Given the description of an element on the screen output the (x, y) to click on. 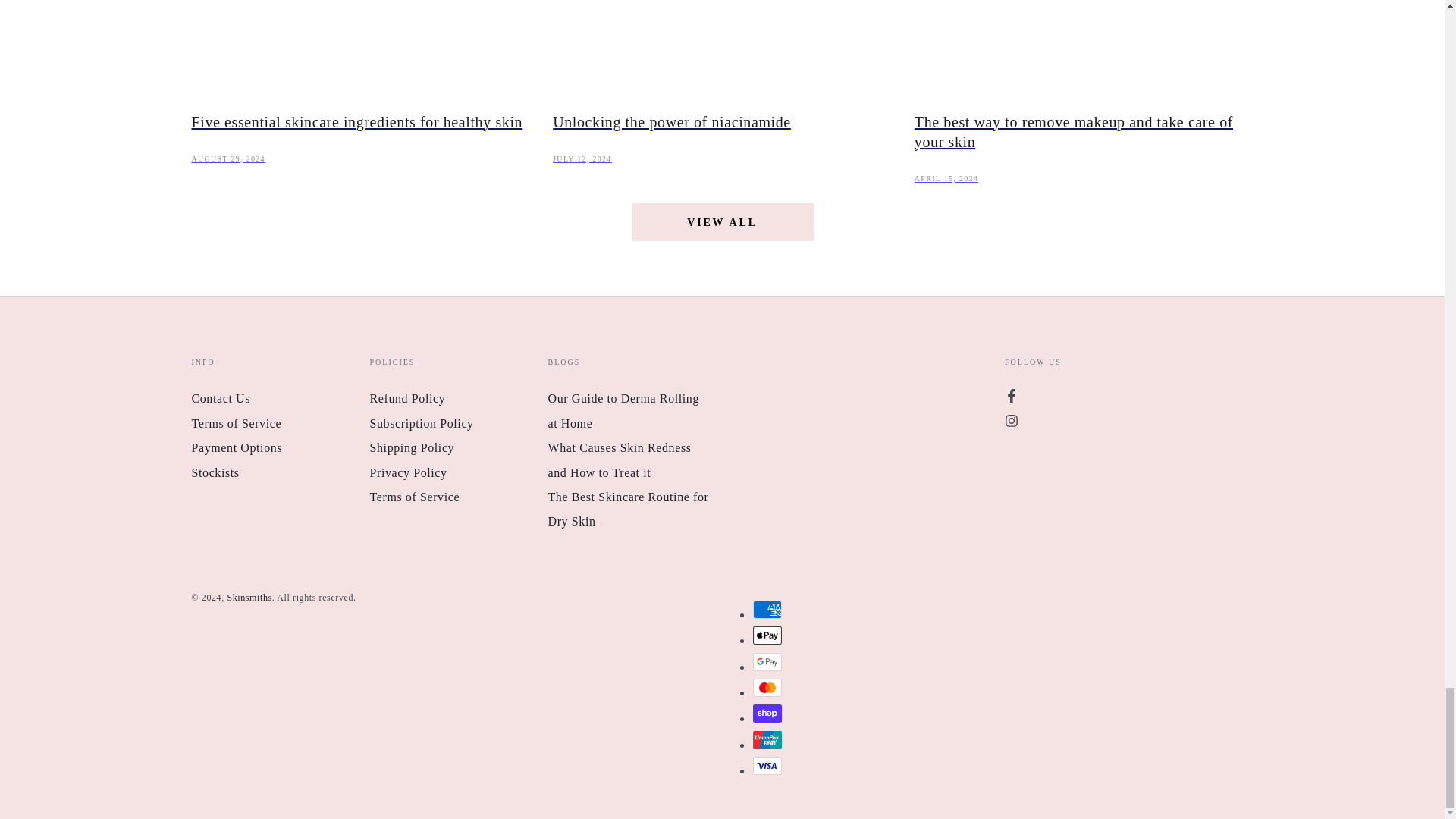
Google Pay (766, 661)
Shop Pay (766, 713)
Visa (766, 765)
Apple Pay (766, 635)
Mastercard (766, 687)
American Express (766, 609)
Union Pay (766, 740)
